Given the description of an element on the screen output the (x, y) to click on. 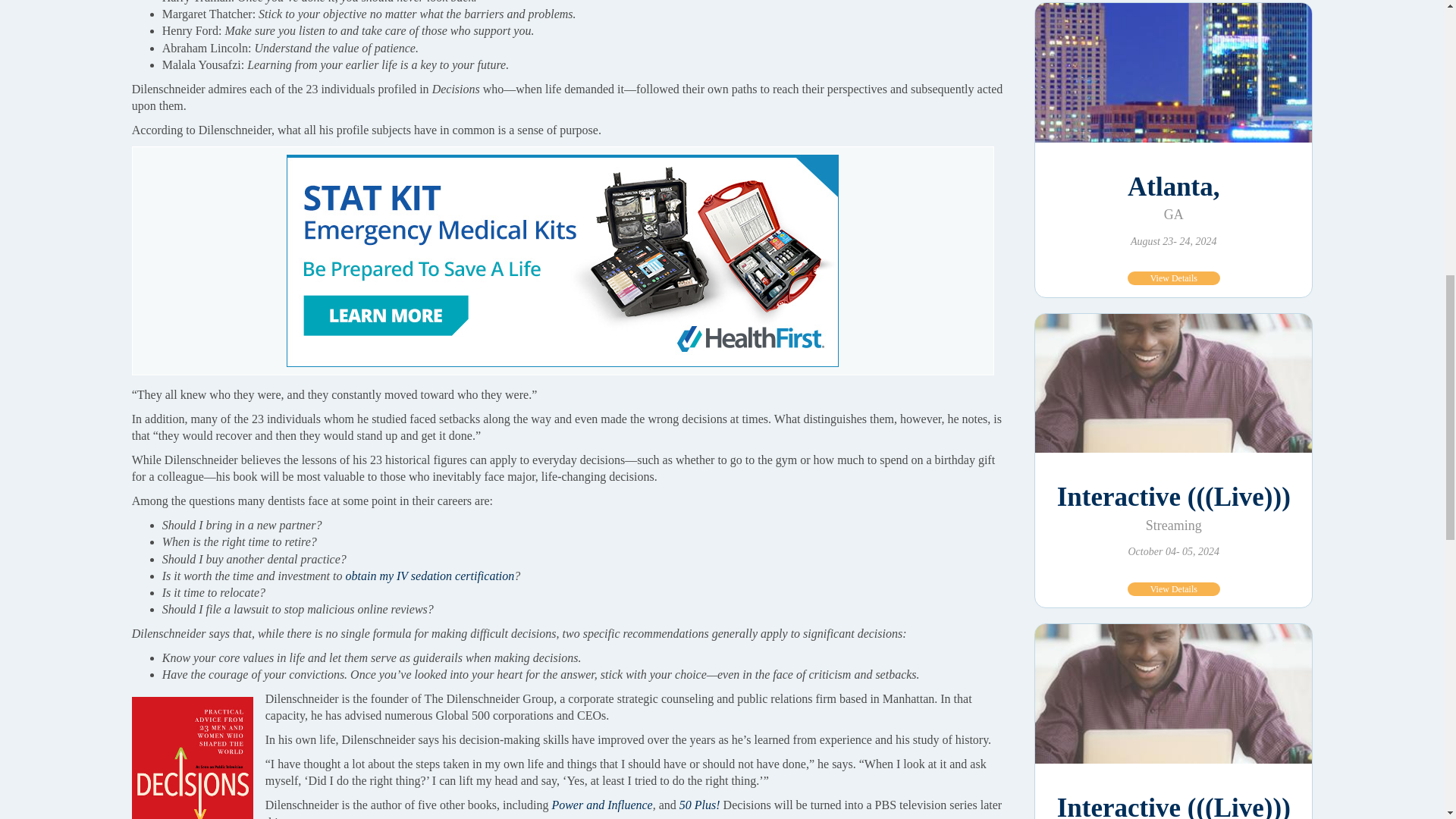
obtain my IV sedation certification (429, 575)
Power and Influence (601, 804)
